Given the description of an element on the screen output the (x, y) to click on. 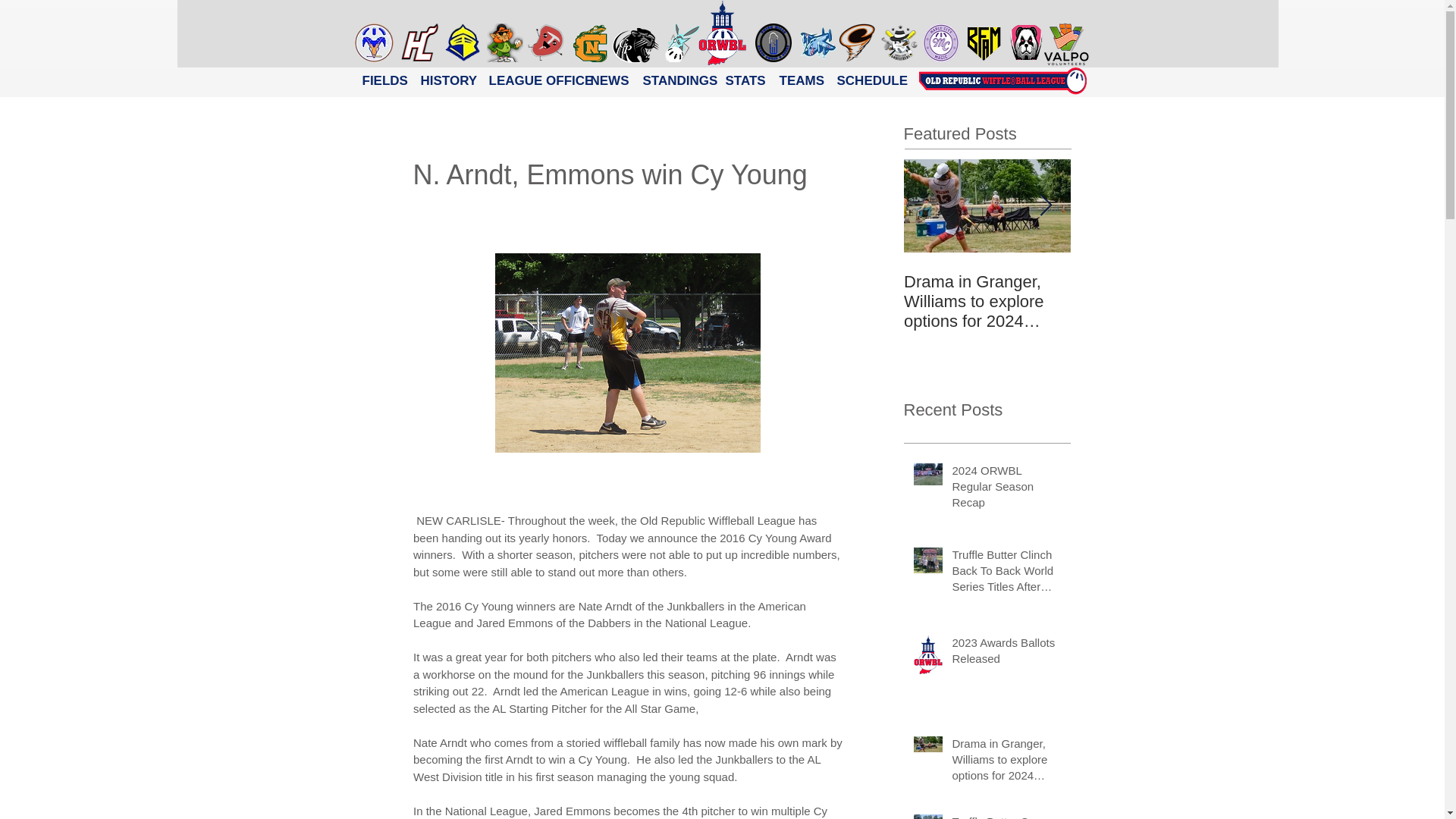
MeatSpins Alt Logo.png (545, 42)
BombersAltLogo (817, 42)
NEWS (605, 81)
HISTORY (443, 81)
KnightsAltLogo (462, 42)
CyclonesAltLogo (856, 42)
STATS (741, 81)
LEAGUE OFFICE (528, 81)
